Given the description of an element on the screen output the (x, y) to click on. 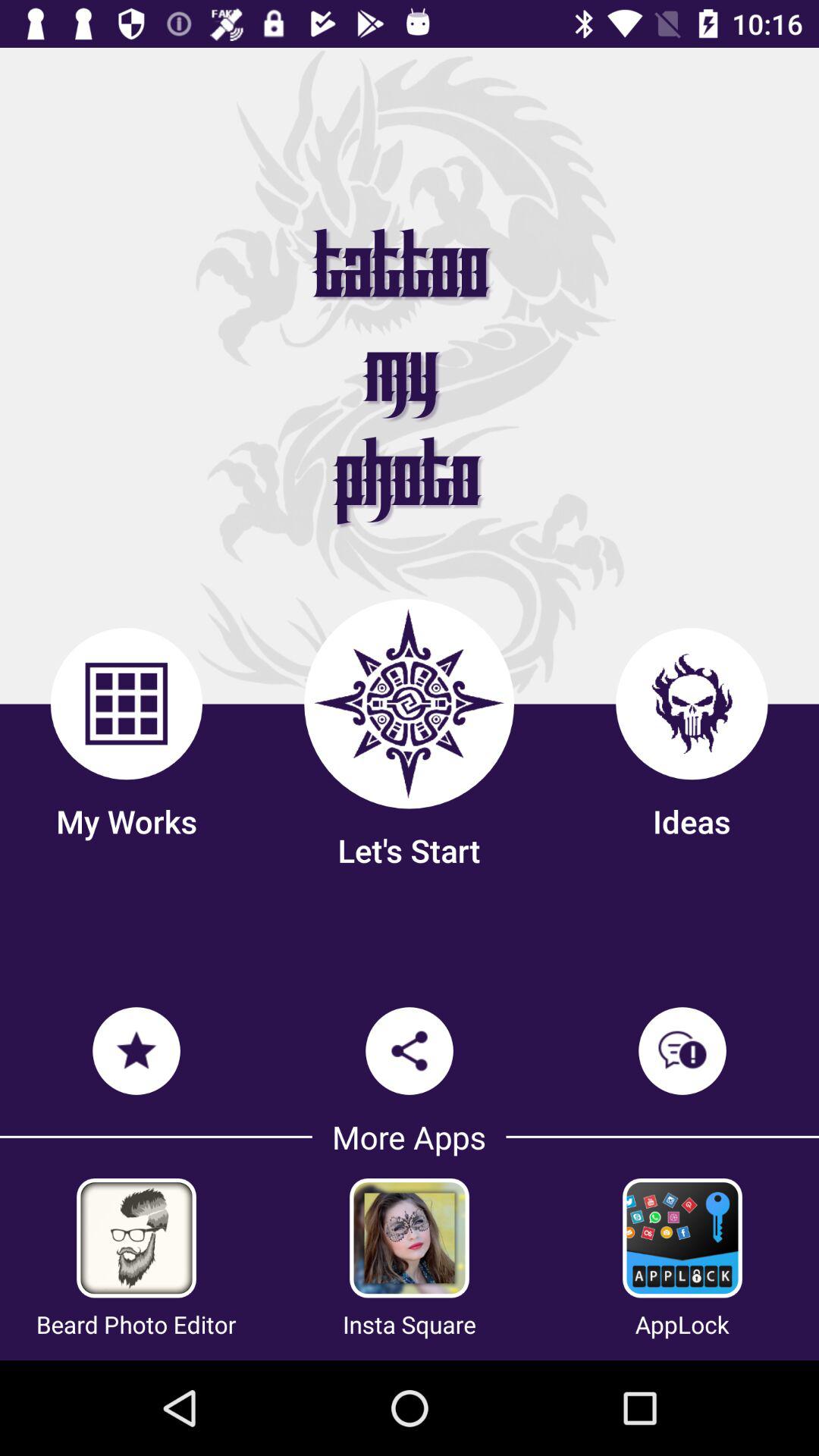
select the item next to insta square icon (682, 1324)
